Given the description of an element on the screen output the (x, y) to click on. 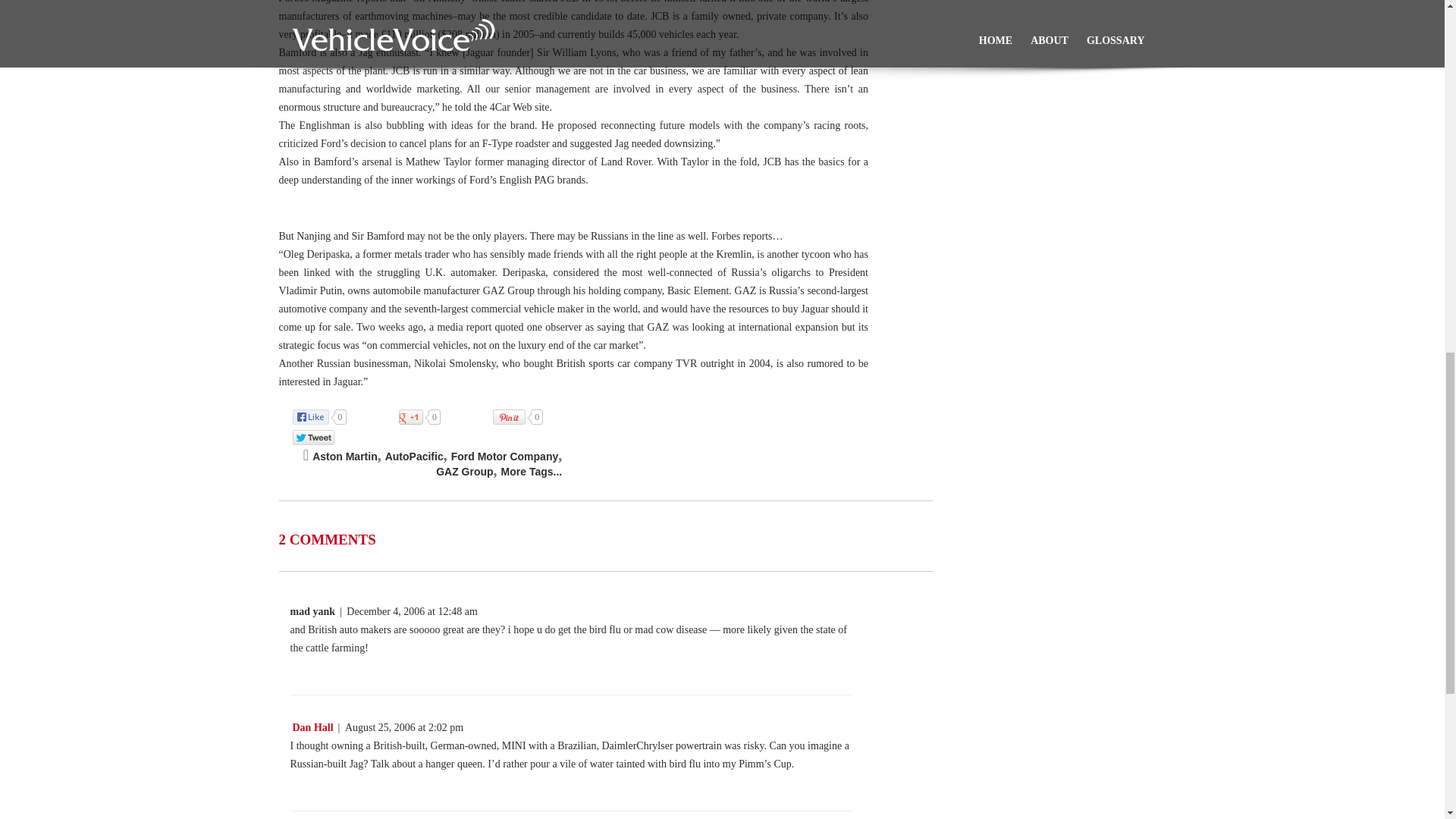
Aston Martin (345, 456)
Ford Motor Company Tag (505, 456)
Share link on Facebook (326, 417)
Share image on Pinterest (525, 417)
Share link on Twitter (320, 437)
AutoPacific (414, 456)
More Tags... (531, 471)
GAZ Group Tag (464, 471)
Ford Motor Company (505, 456)
AutoPacific Tag (414, 456)
Dan Hall (311, 728)
GAZ Group (464, 471)
Aston Martin Tag (345, 456)
